Given the description of an element on the screen output the (x, y) to click on. 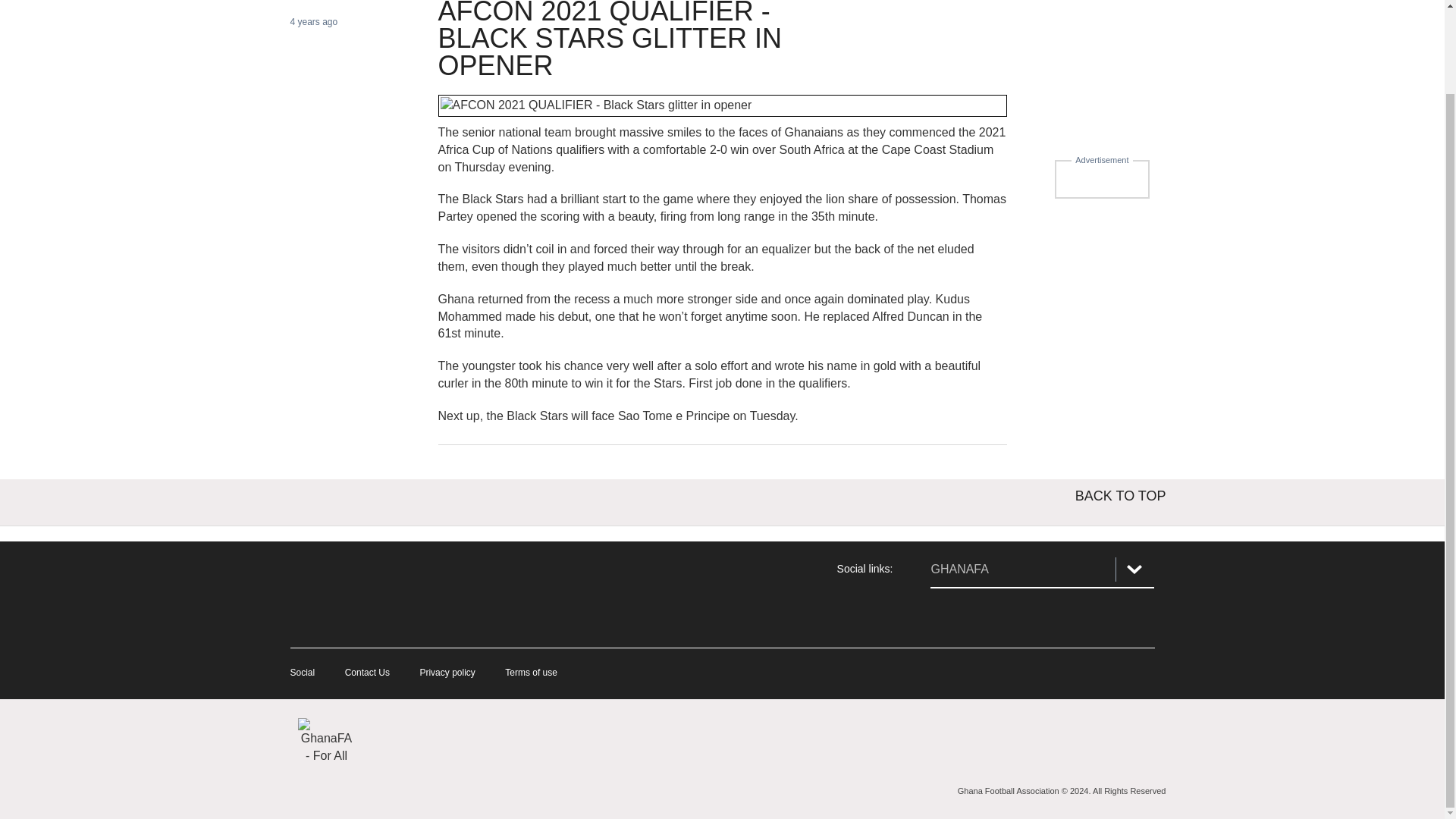
View the GhanaFA Facebook channel (950, 617)
View the GhanaFA Twitter channel (1042, 617)
View the GhanaFA YouTube channel (1133, 617)
